Given the description of an element on the screen output the (x, y) to click on. 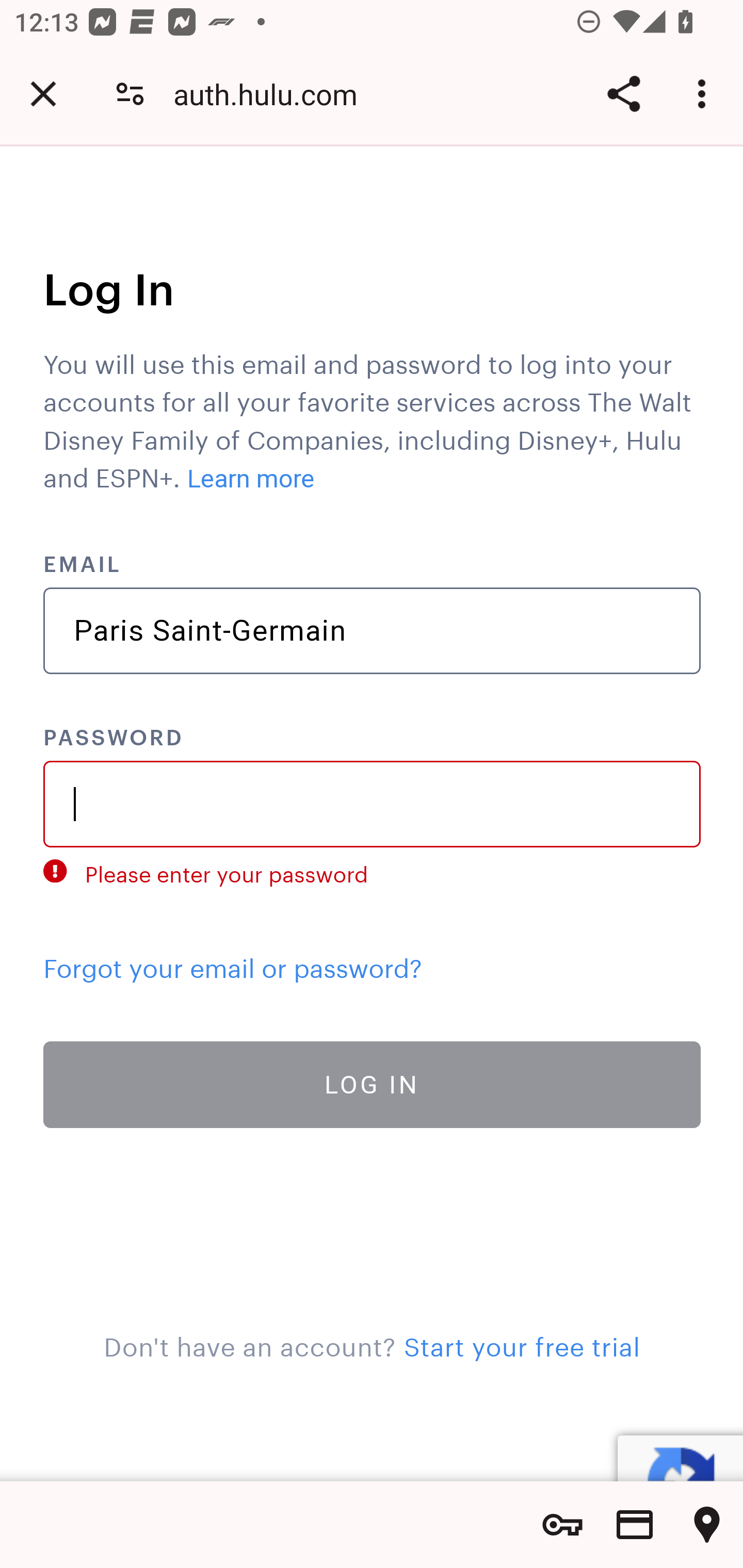
Close tab (43, 93)
Share (623, 93)
Customize and control Google Chrome (705, 93)
Connection is secure (129, 93)
auth.hulu.com (272, 93)
Learn more (250, 478)
Paris Saint-Germain (372, 630)
Forgot your email or password? (233, 963)
LOG IN (372, 1083)
Start your free trial (521, 1342)
Show saved passwords and password options (562, 1524)
Show saved payment methods (634, 1524)
Show saved addresses (706, 1524)
